Given the description of an element on the screen output the (x, y) to click on. 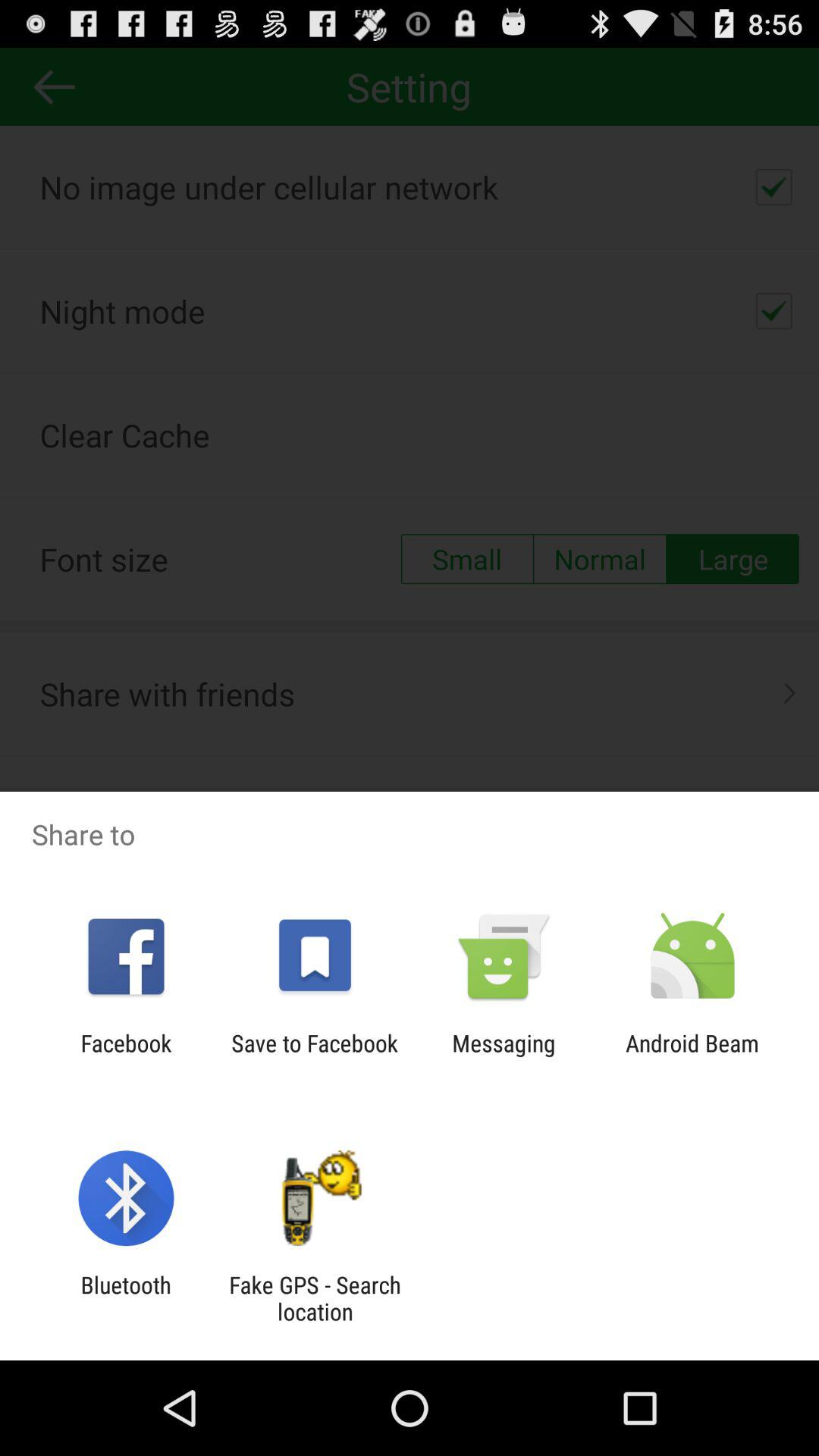
choose the android beam app (692, 1056)
